Given the description of an element on the screen output the (x, y) to click on. 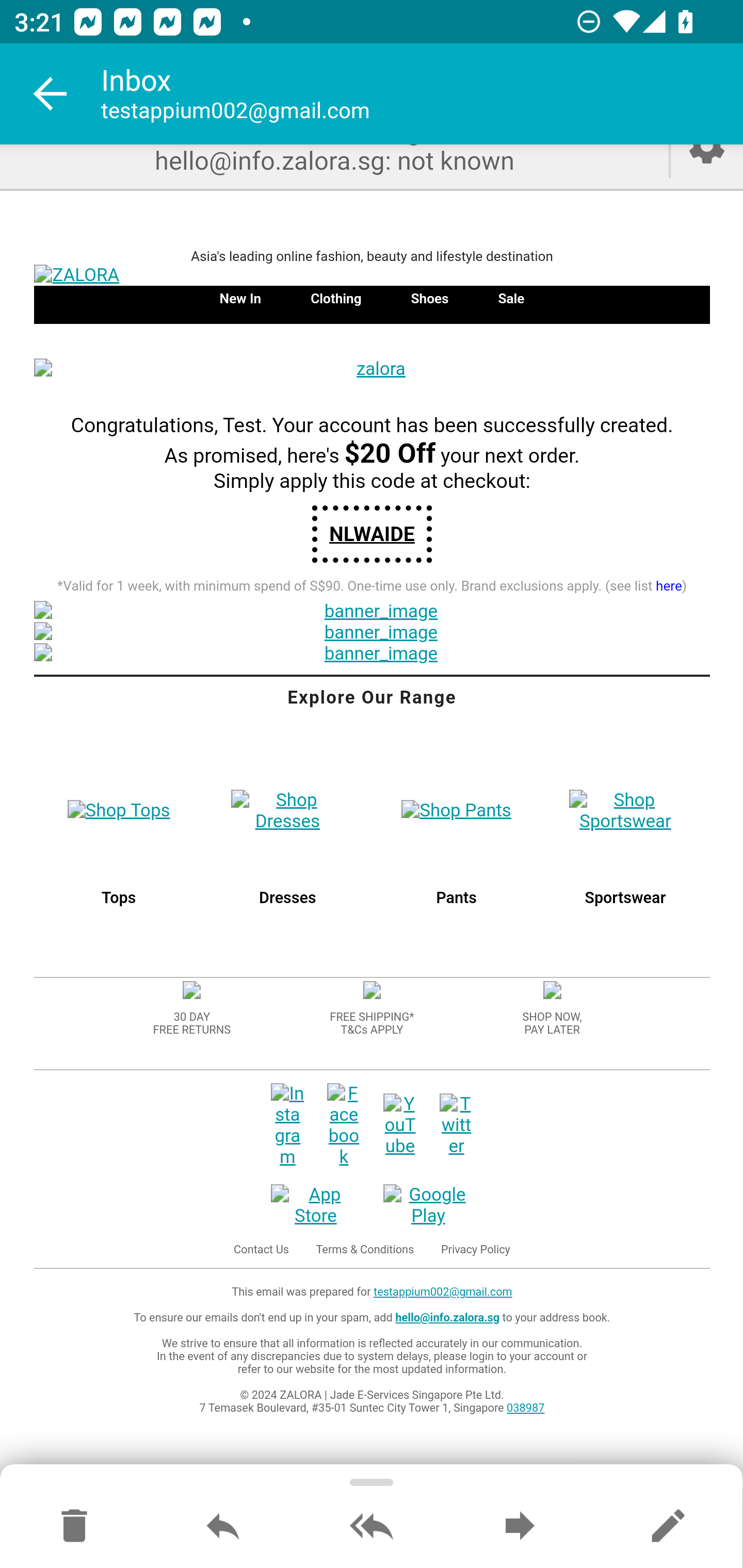
Navigate up (50, 93)
Inbox testappium002@gmail.com (422, 93)
Account setup (706, 166)
ZALORA (371, 276)
New In (239, 299)
Clothing (336, 299)
Shoes (429, 299)
Sale (510, 299)
zalora (371, 370)
NLWAIDE (371, 534)
here (668, 587)
banner_image (371, 612)
banner_image (371, 634)
banner_image (371, 654)
Shop Dresses (287, 811)
Shop Sportswear (624, 811)
Shop Tops (118, 811)
Shop Pants (456, 811)
Tops (119, 899)
Dresses (287, 899)
Pants (456, 899)
Sportswear (624, 899)
data: (192, 992)
data: (371, 992)
data: (551, 992)
30 DAY FREE RETURNS 30 DAY FREE RETURNS (191, 1024)
SHOP NOW, PAY LATER SHOP NOW, PAY LATER (552, 1024)
Instagram (286, 1126)
Facebook (343, 1126)
YouTube (400, 1126)
Twitter (456, 1126)
App Store (315, 1206)
Google Play (428, 1206)
Contact Us (261, 1250)
Terms & Conditions (364, 1250)
Privacy Policy (475, 1250)
testappium002@gmail.com (442, 1293)
hello@info.zalora.sg (446, 1318)
038987 (525, 1408)
Move to Deleted (74, 1527)
Reply (222, 1527)
Reply all (371, 1527)
Forward (519, 1527)
Reply as new (667, 1527)
